Given the description of an element on the screen output the (x, y) to click on. 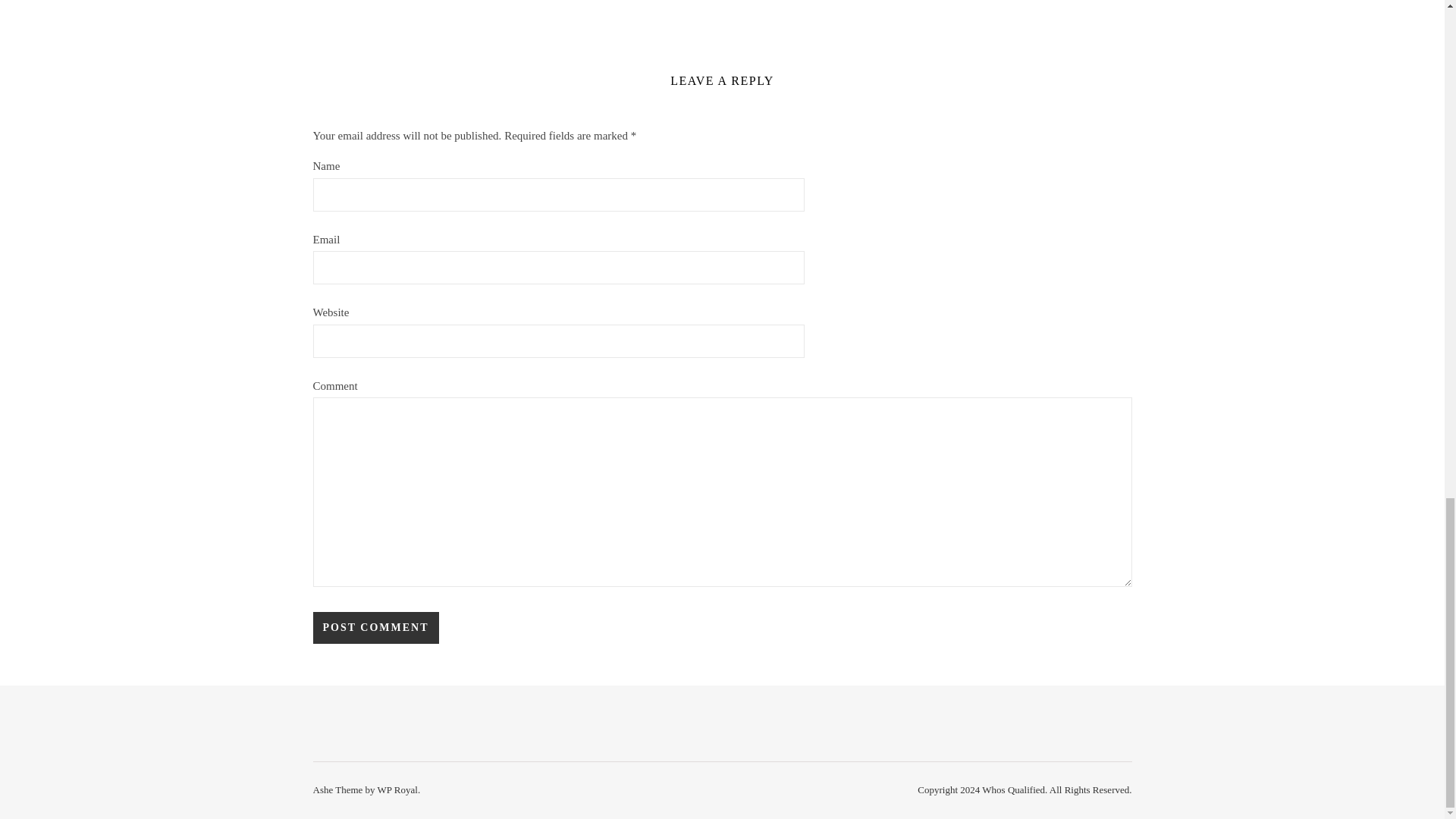
Post Comment (375, 627)
Post Comment (375, 627)
WP Royal (397, 789)
